Given the description of an element on the screen output the (x, y) to click on. 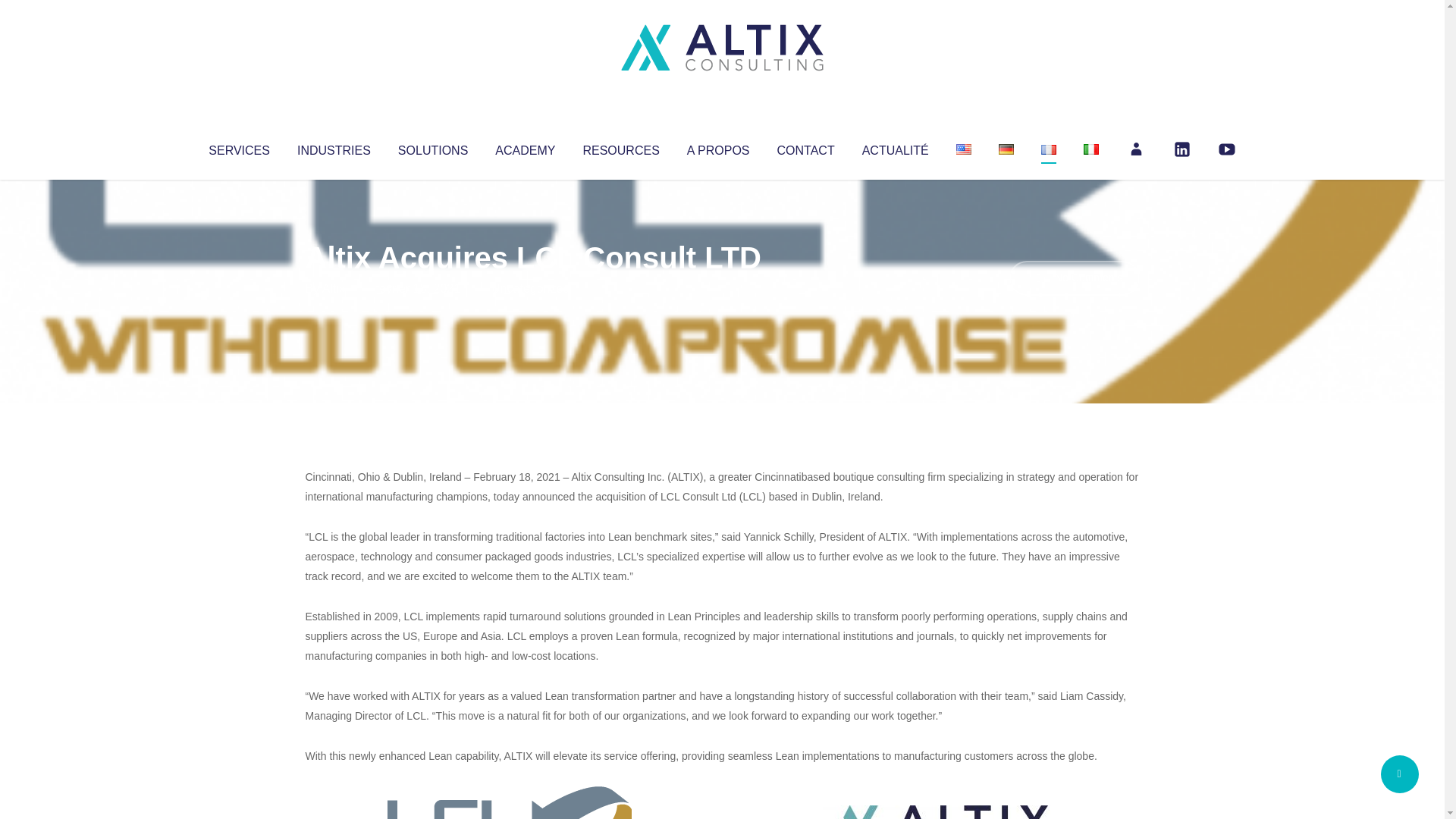
No Comments (1073, 278)
INDUSTRIES (334, 146)
ACADEMY (524, 146)
RESOURCES (620, 146)
SOLUTIONS (432, 146)
Altix (333, 287)
SERVICES (238, 146)
Articles par Altix (333, 287)
A PROPOS (718, 146)
Uncategorized (530, 287)
